Given the description of an element on the screen output the (x, y) to click on. 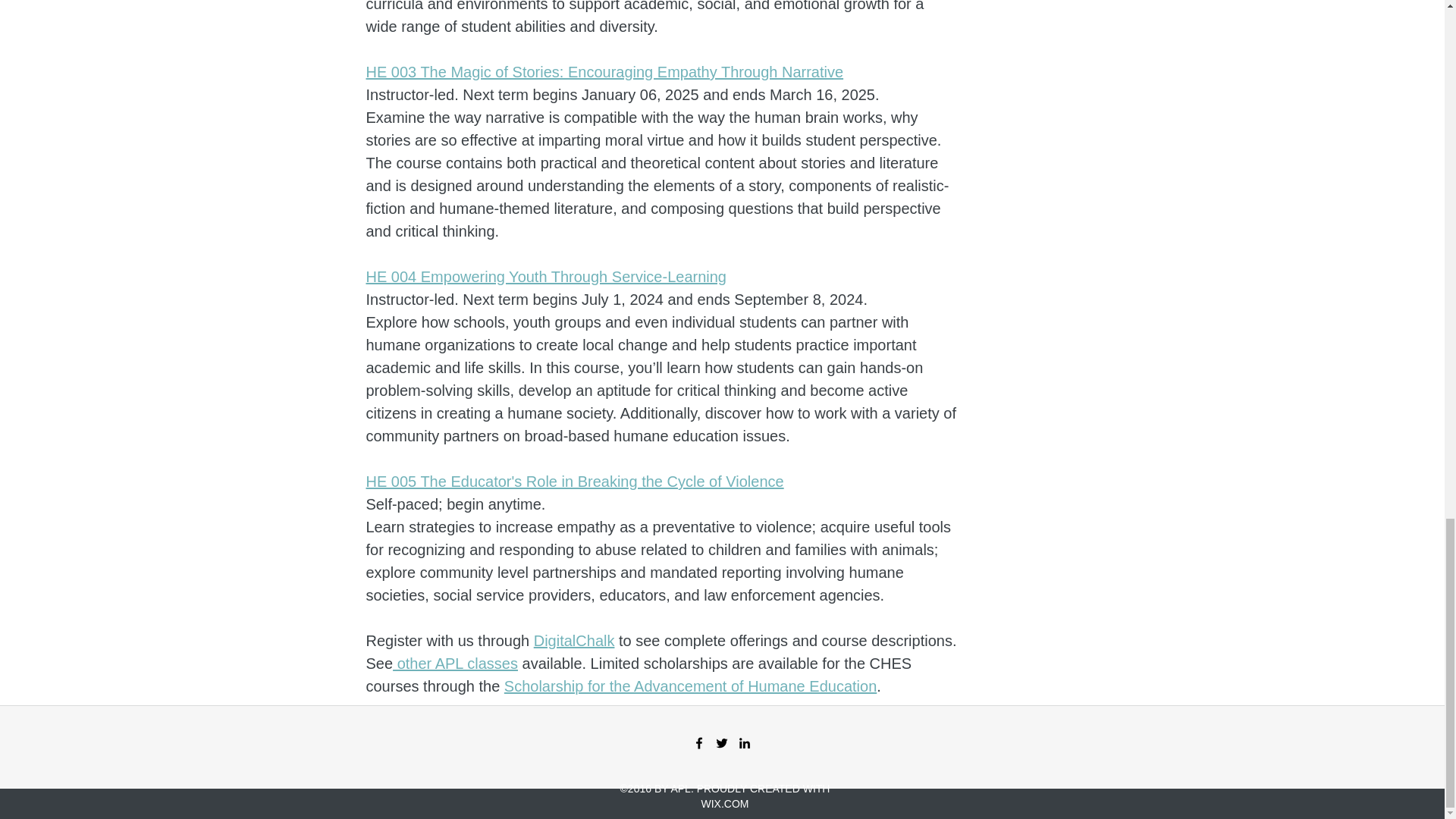
DigitalChalk (574, 640)
other APL classes (455, 663)
HE 004 Empowering Youth Through Service-Learning (545, 276)
HE 005 The Educator's Role in Breaking the Cycle of Violence (574, 481)
Scholarship for the Advancement of Humane Education (689, 686)
